Given the description of an element on the screen output the (x, y) to click on. 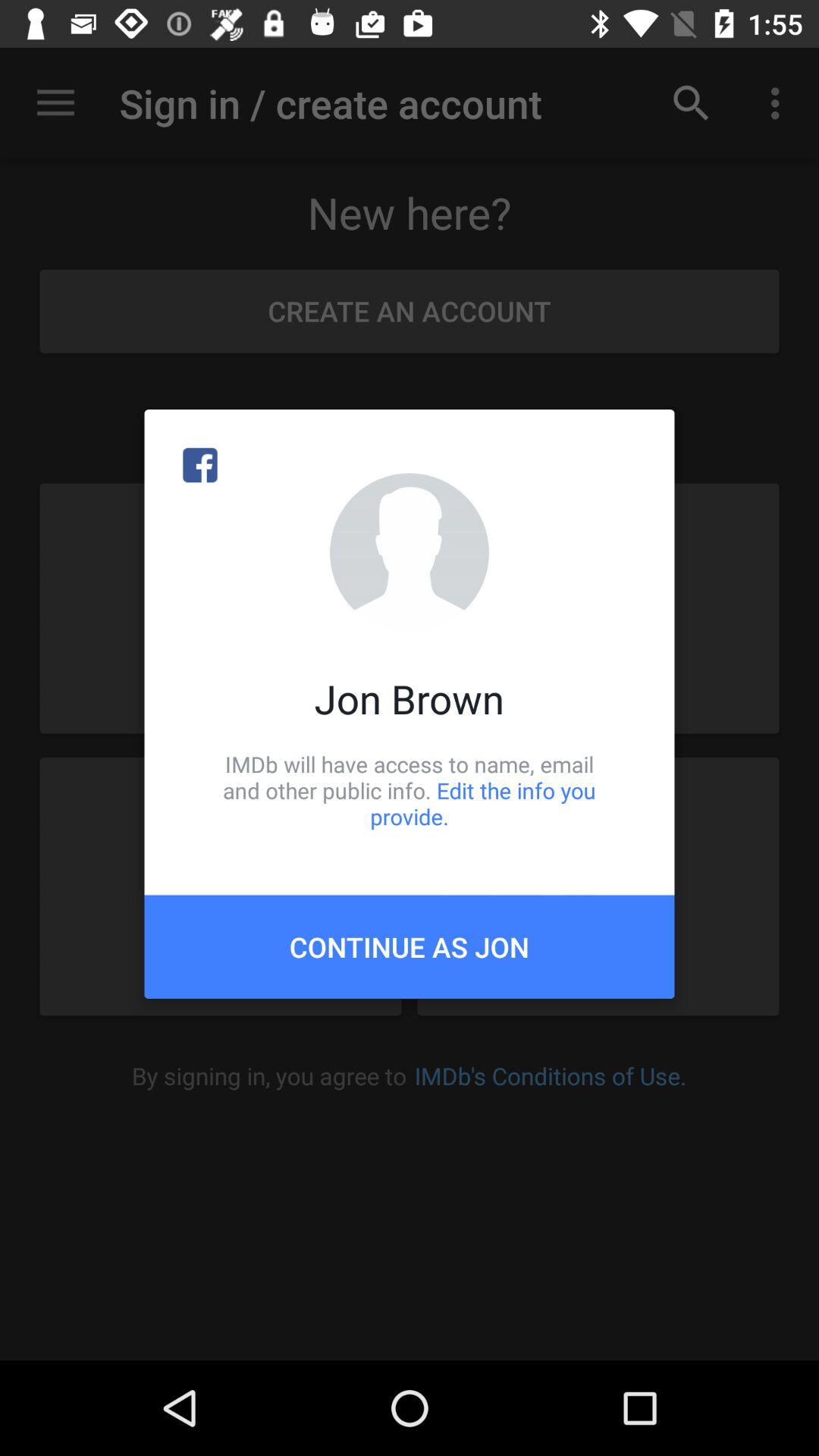
click the imdb will have icon (409, 790)
